Given the description of an element on the screen output the (x, y) to click on. 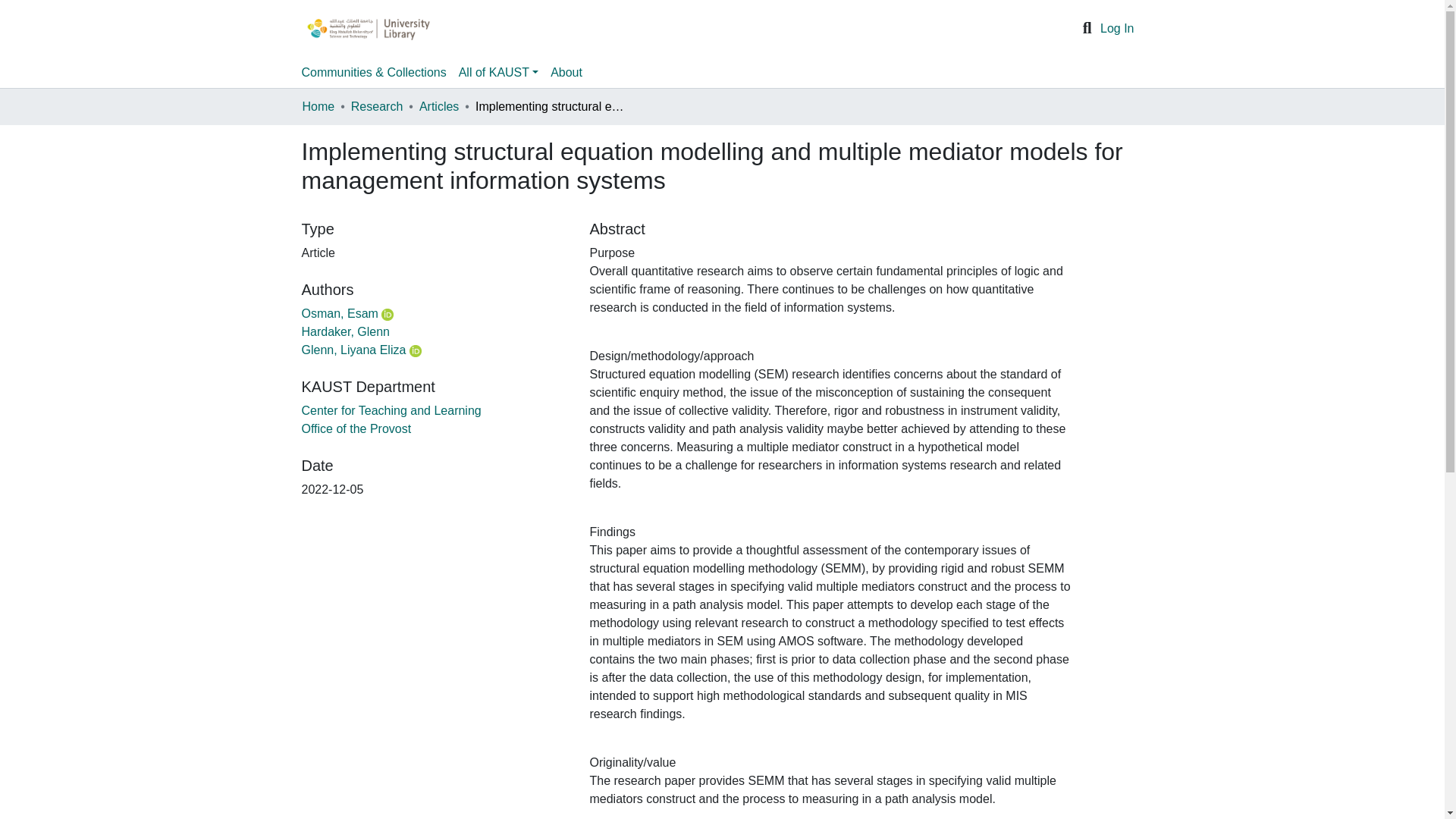
Home (317, 106)
About (566, 72)
Office of the Provost (356, 428)
Articles (438, 106)
Glenn, Liyana Eliza (353, 349)
Search (1087, 28)
About (566, 72)
Center for Teaching and Learning (391, 410)
All of KAUST (498, 72)
Hardaker, Glenn (345, 331)
Research (376, 106)
Osman, Esam (339, 313)
Log In (1117, 28)
